Given the description of an element on the screen output the (x, y) to click on. 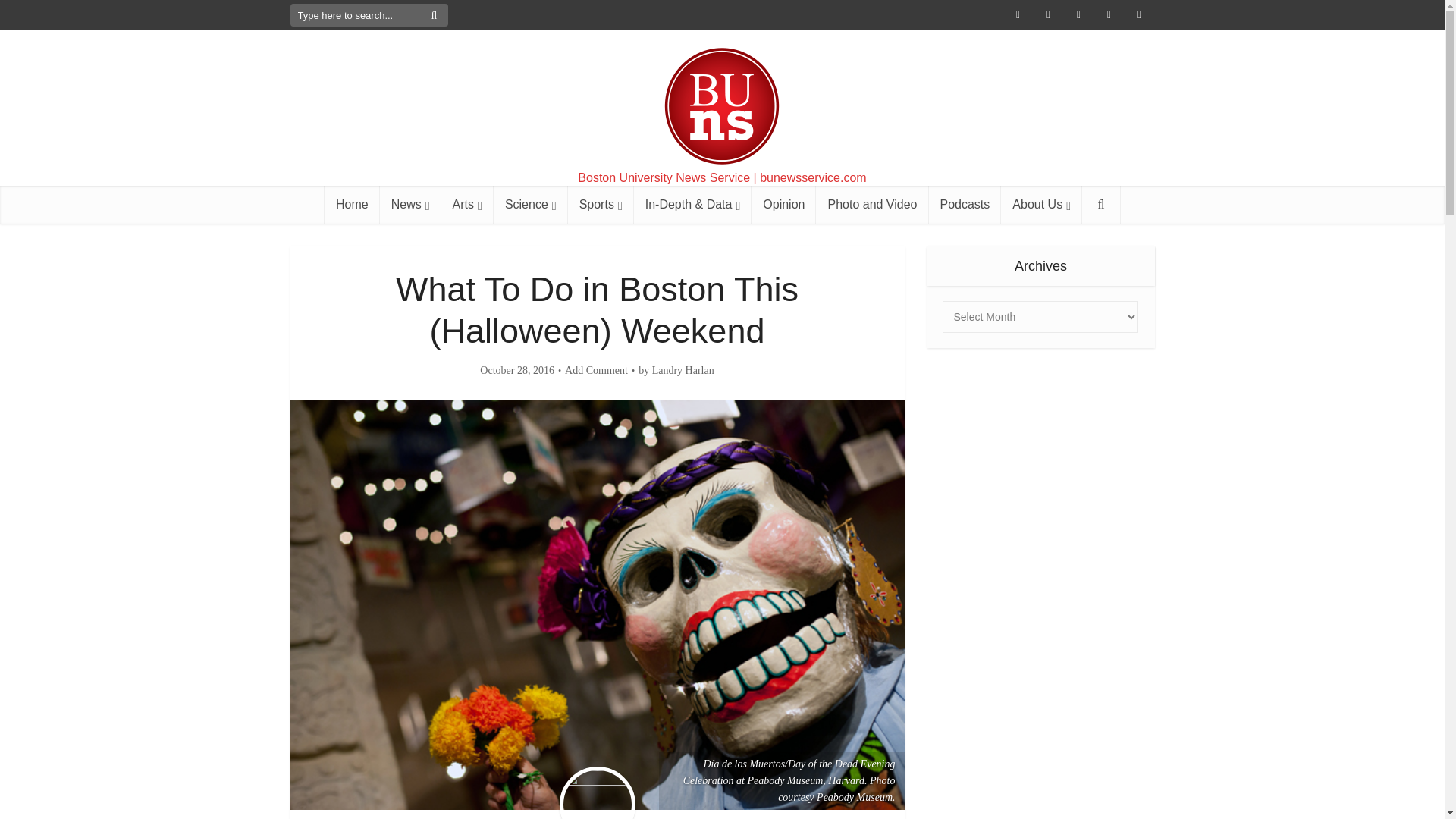
Add Comment (595, 370)
Type here to search... (367, 15)
Podcasts (964, 204)
About Us (1041, 204)
Opinion (783, 204)
Science (530, 204)
News (410, 204)
Arts (467, 204)
Home (352, 204)
Landry Harlan (683, 370)
